Given the description of an element on the screen output the (x, y) to click on. 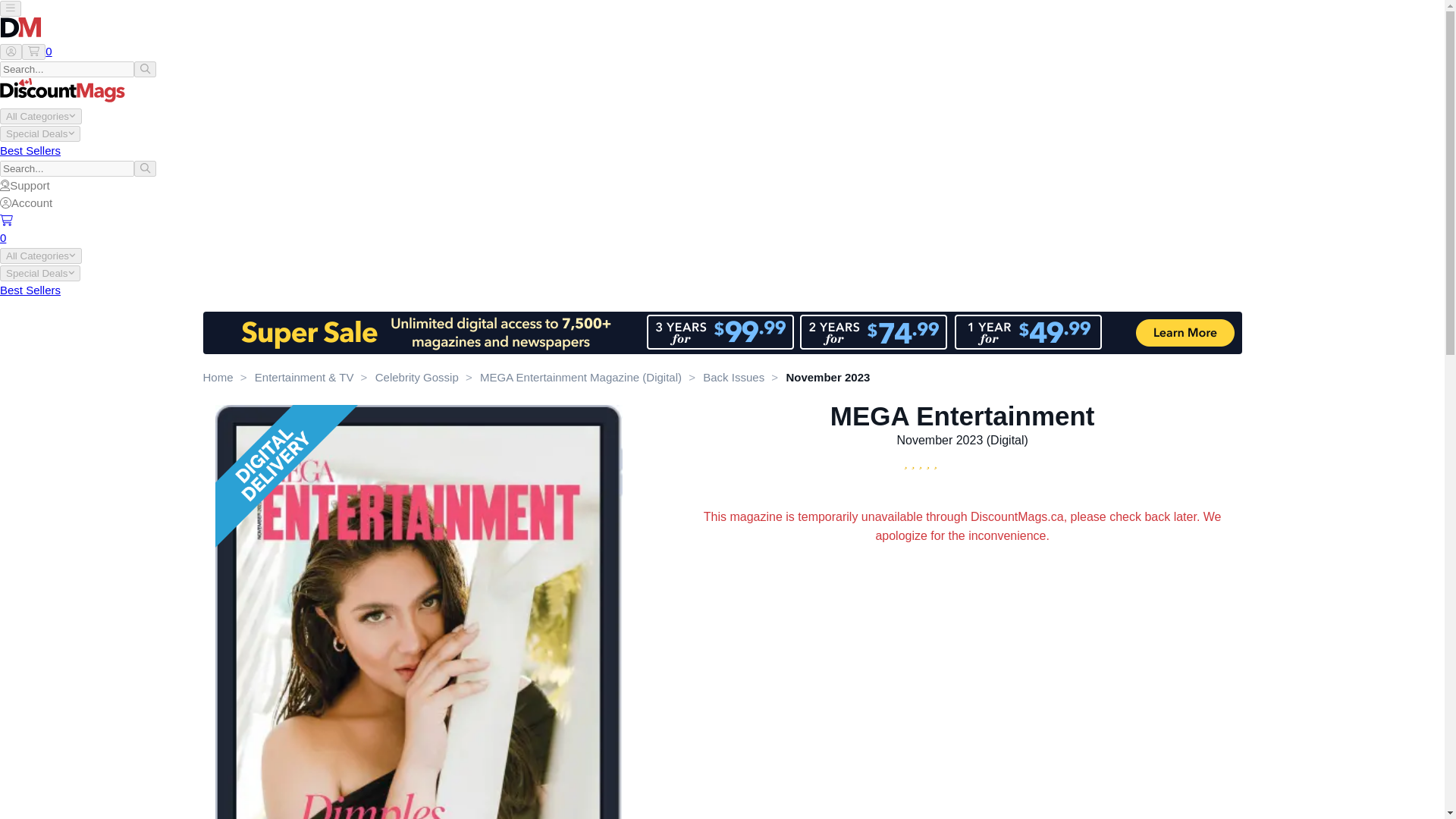
Back Issues (733, 377)
Celebrity Gossip (416, 377)
Home (217, 377)
